Given the description of an element on the screen output the (x, y) to click on. 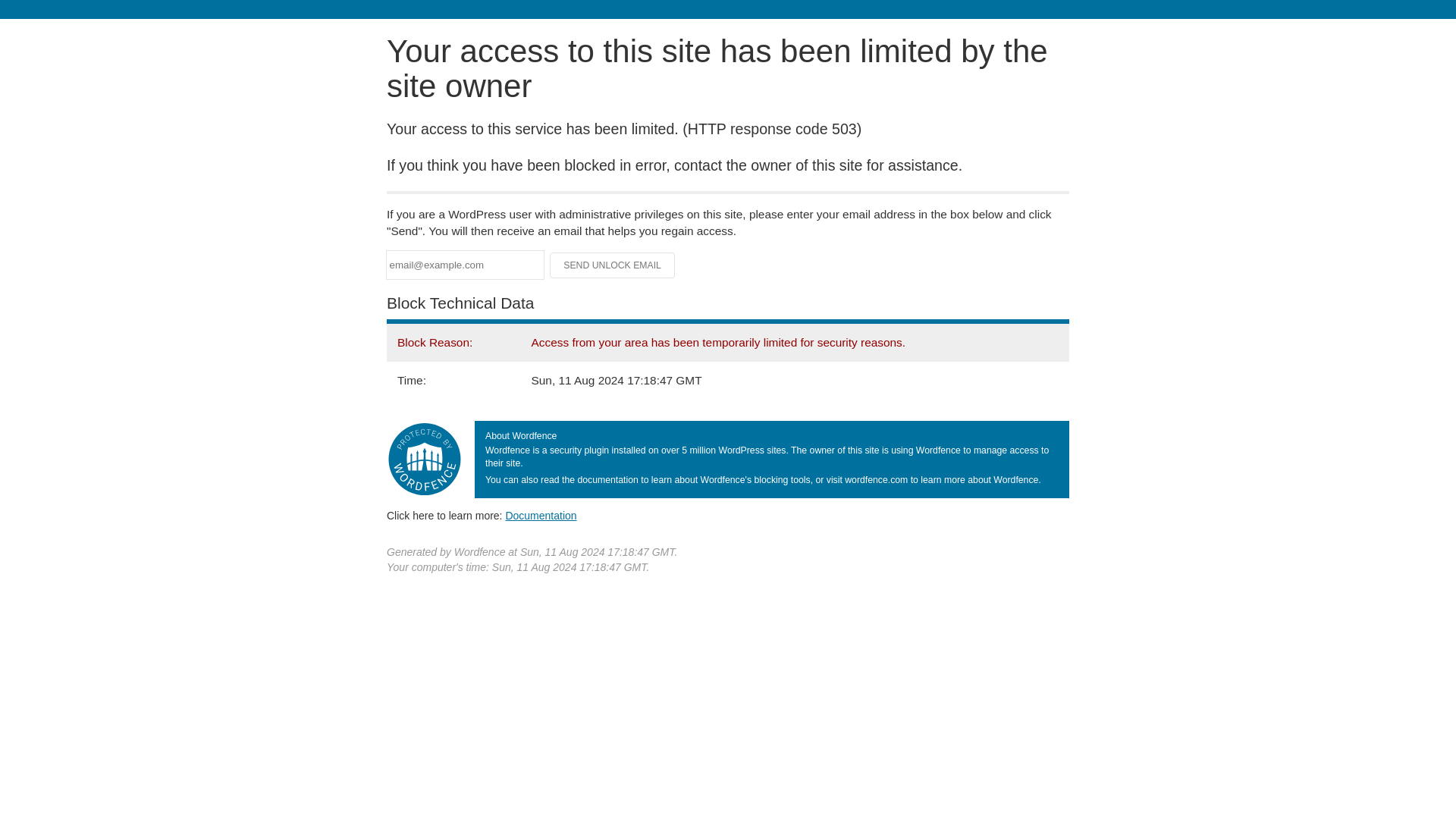
Documentation (540, 515)
Send Unlock Email (612, 265)
Send Unlock Email (612, 265)
